Given the description of an element on the screen output the (x, y) to click on. 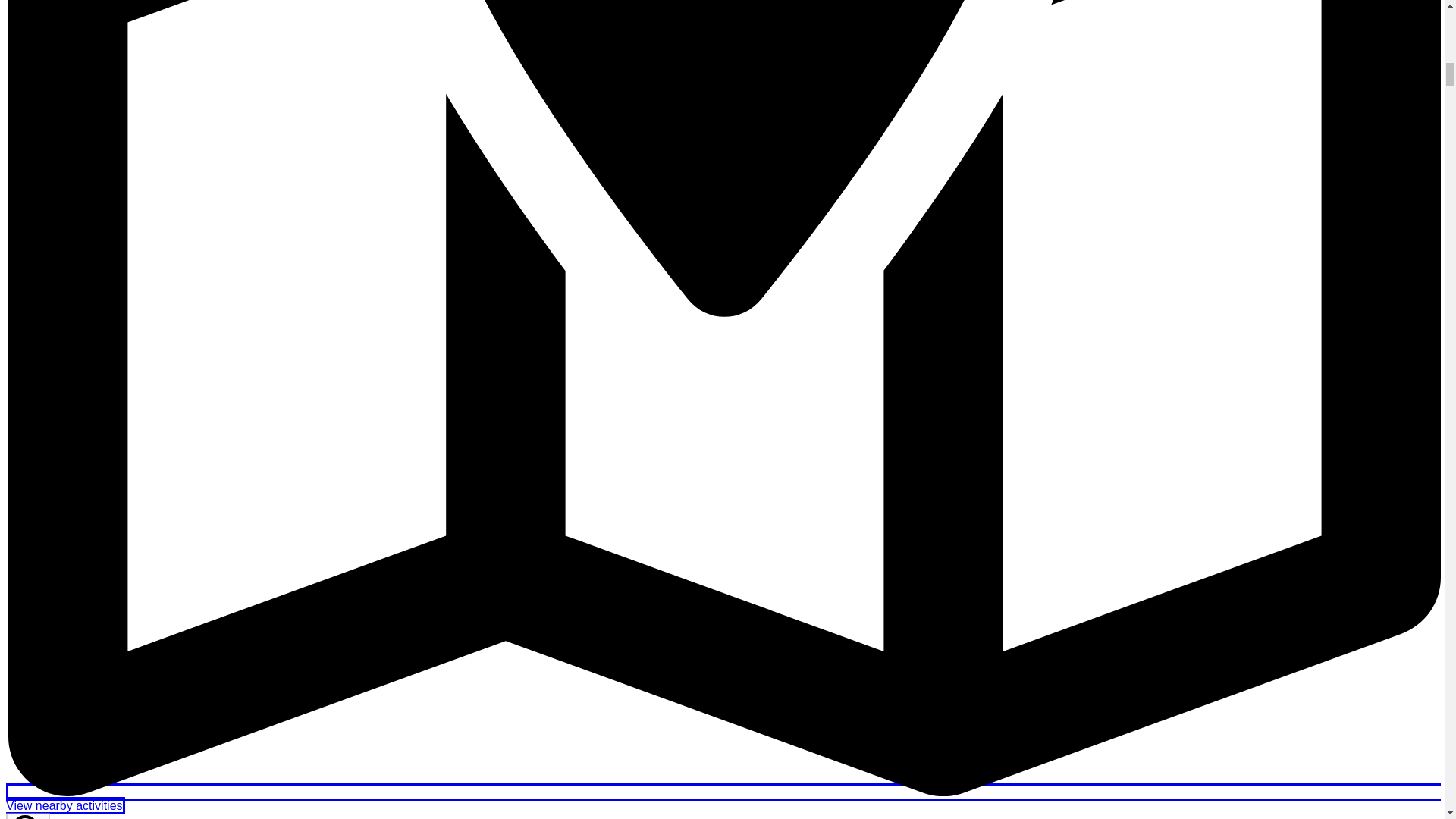
Search (27, 816)
